Given the description of an element on the screen output the (x, y) to click on. 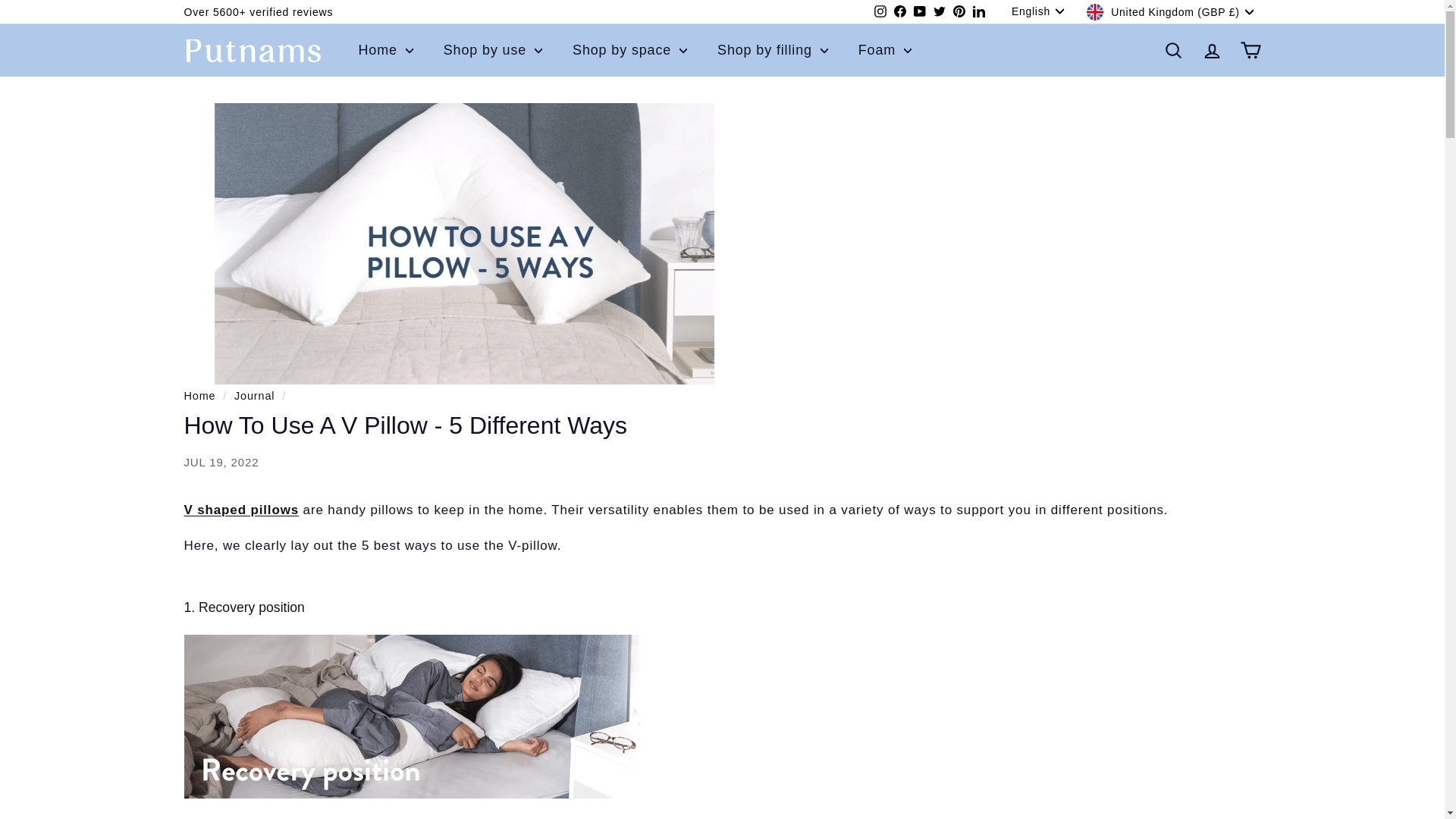
Putnams on Facebook (899, 12)
instagram (880, 10)
Putnams on LinkedIn (978, 12)
Putnams on YouTube (939, 12)
Pinterest (920, 12)
English (959, 12)
YouTube (879, 12)
Back to the frontpage (1041, 11)
twitter (920, 12)
Putnams on Pinterest (199, 395)
Facebook (938, 10)
Putnams on Instagram (959, 12)
LinkedIn (899, 12)
